Given the description of an element on the screen output the (x, y) to click on. 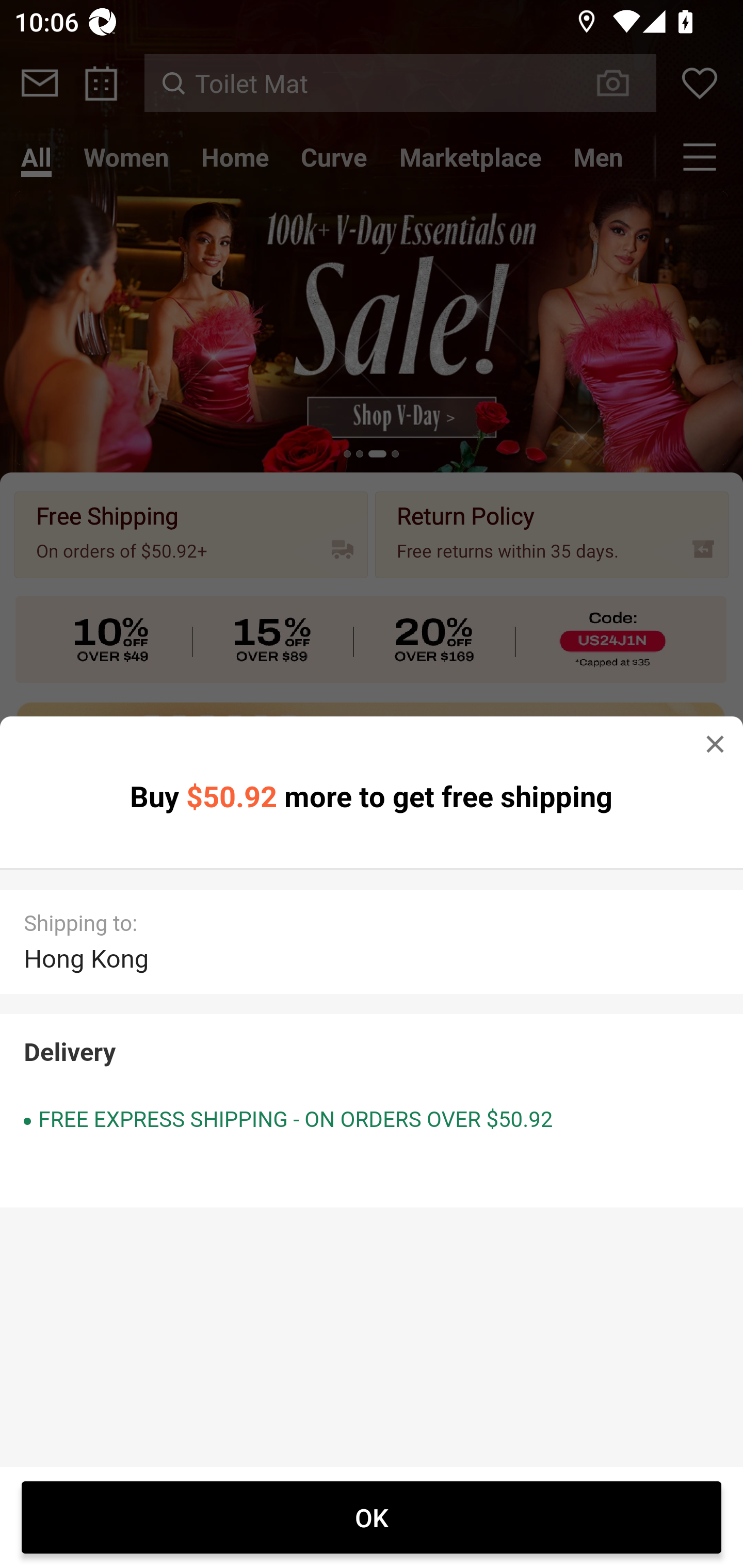
Shipping to: Hong Kong (371, 940)
OK (371, 1517)
